Given the description of an element on the screen output the (x, y) to click on. 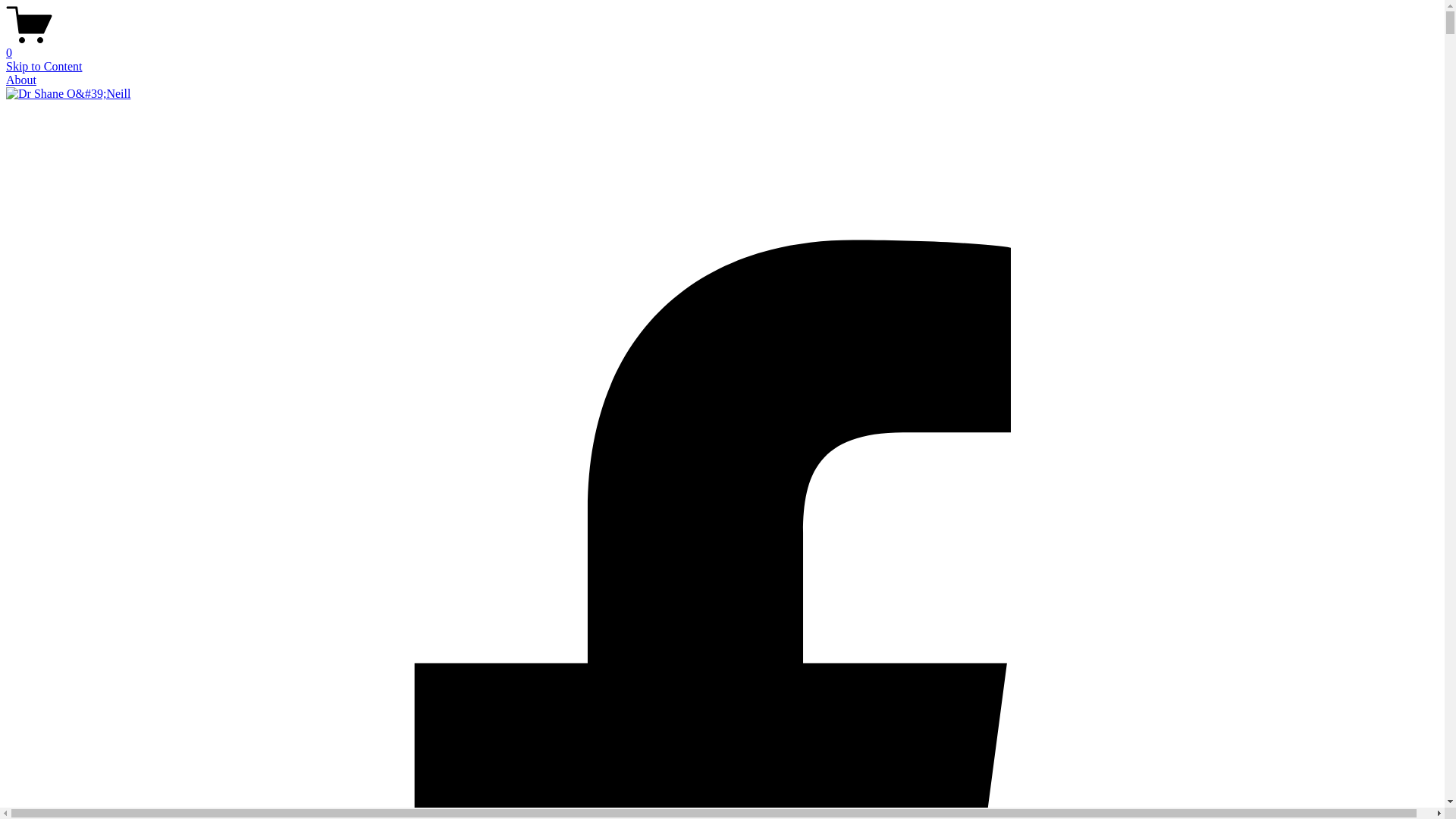
0 Element type: text (722, 45)
About Element type: text (21, 79)
Skip to Content Element type: text (43, 65)
